Given the description of an element on the screen output the (x, y) to click on. 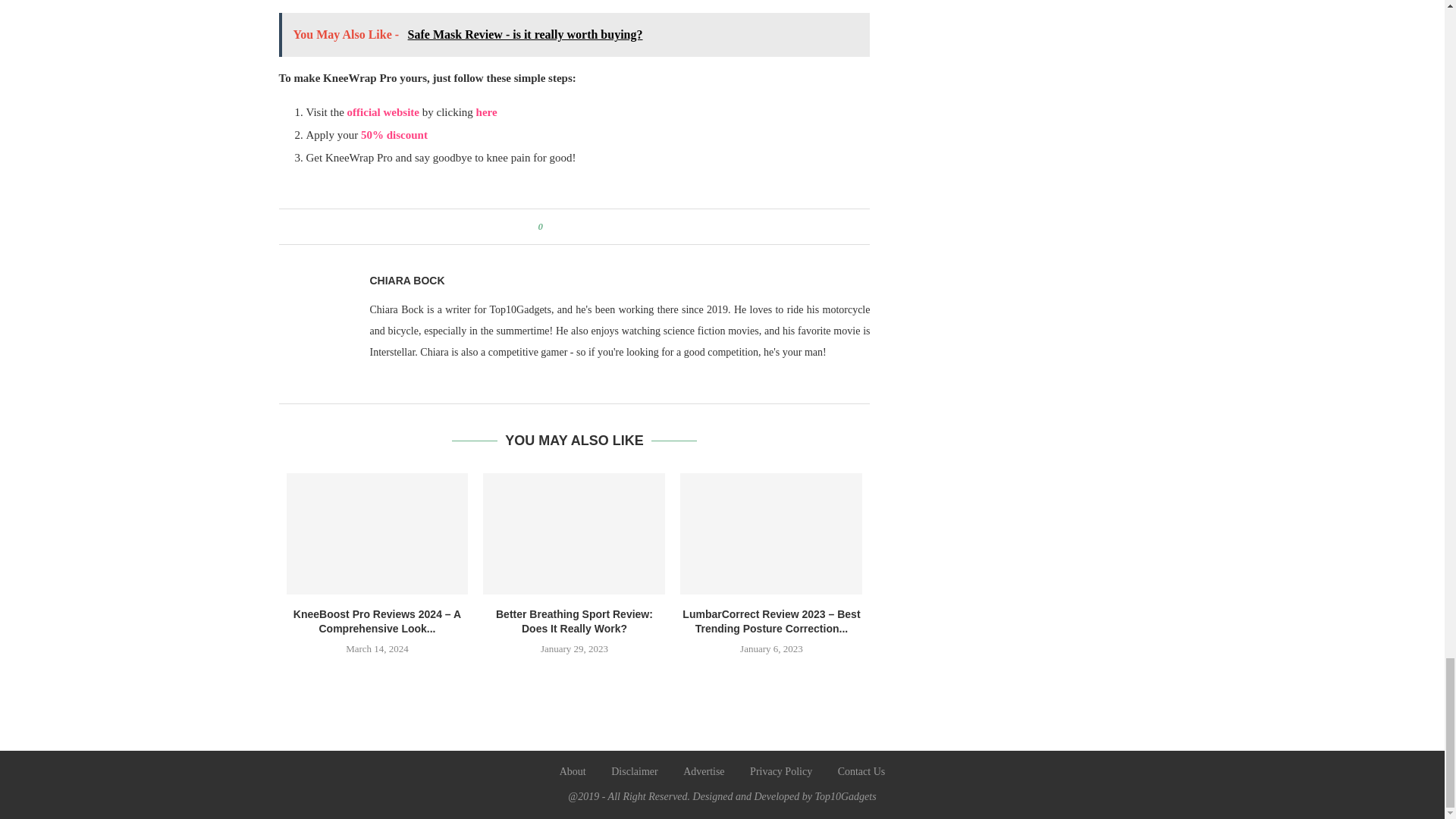
Author Chiara Bock (407, 280)
Like (548, 226)
Better Breathing Sport Review: Does It Really Work? (574, 533)
